Given the description of an element on the screen output the (x, y) to click on. 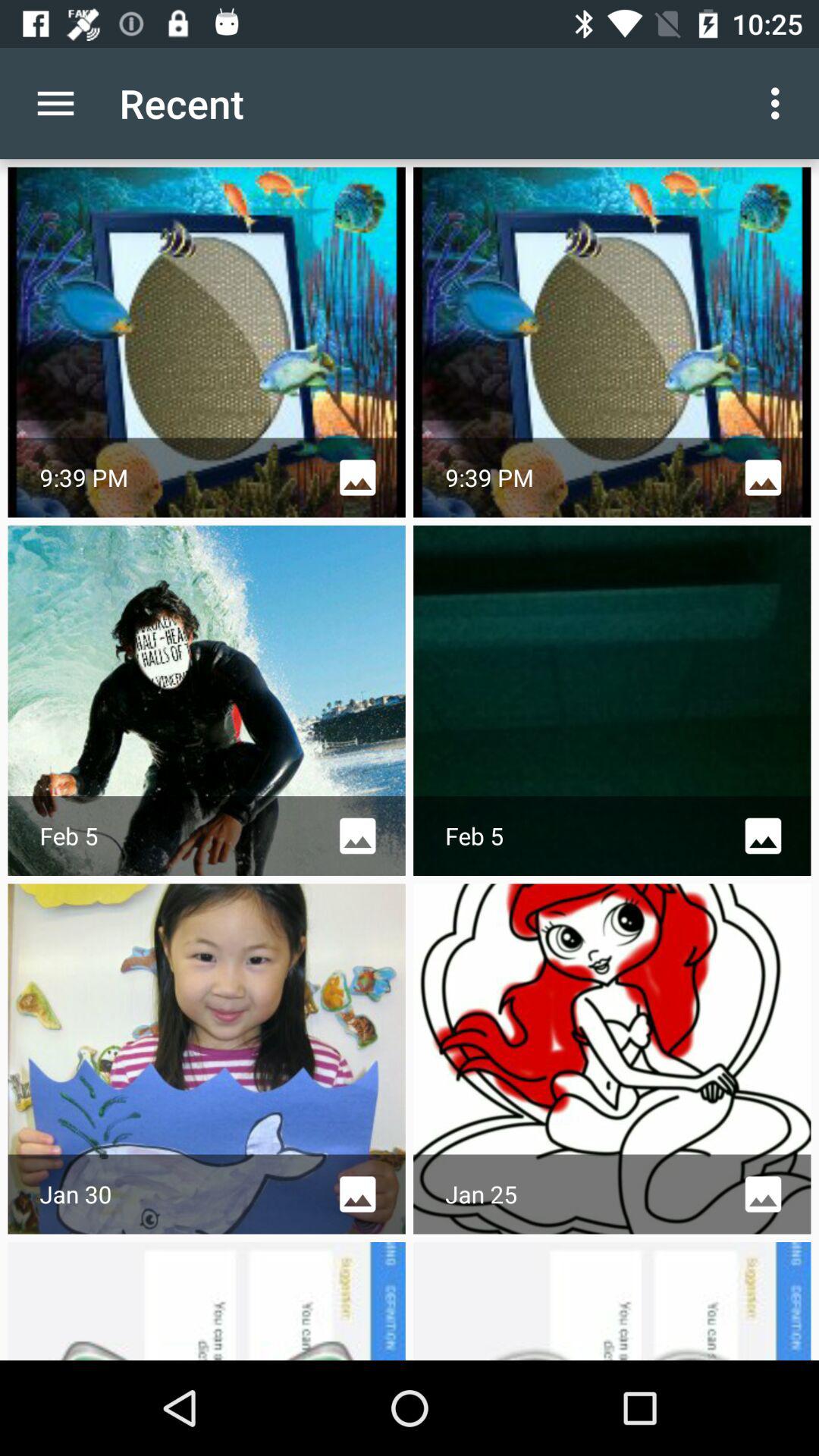
choose the icon next to the recent (55, 103)
